Given the description of an element on the screen output the (x, y) to click on. 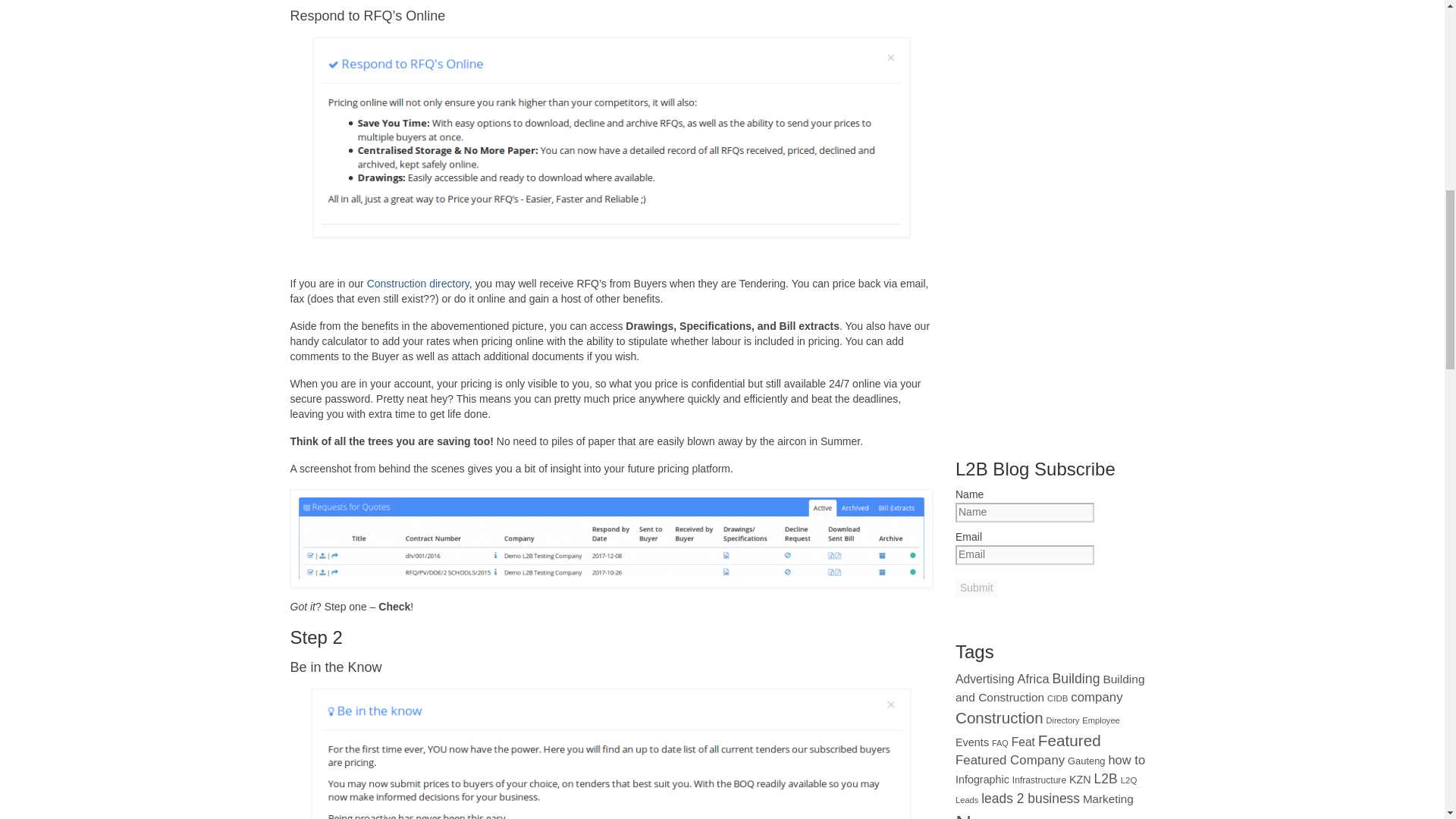
Construction directory (416, 283)
Submit (976, 588)
